Given the description of an element on the screen output the (x, y) to click on. 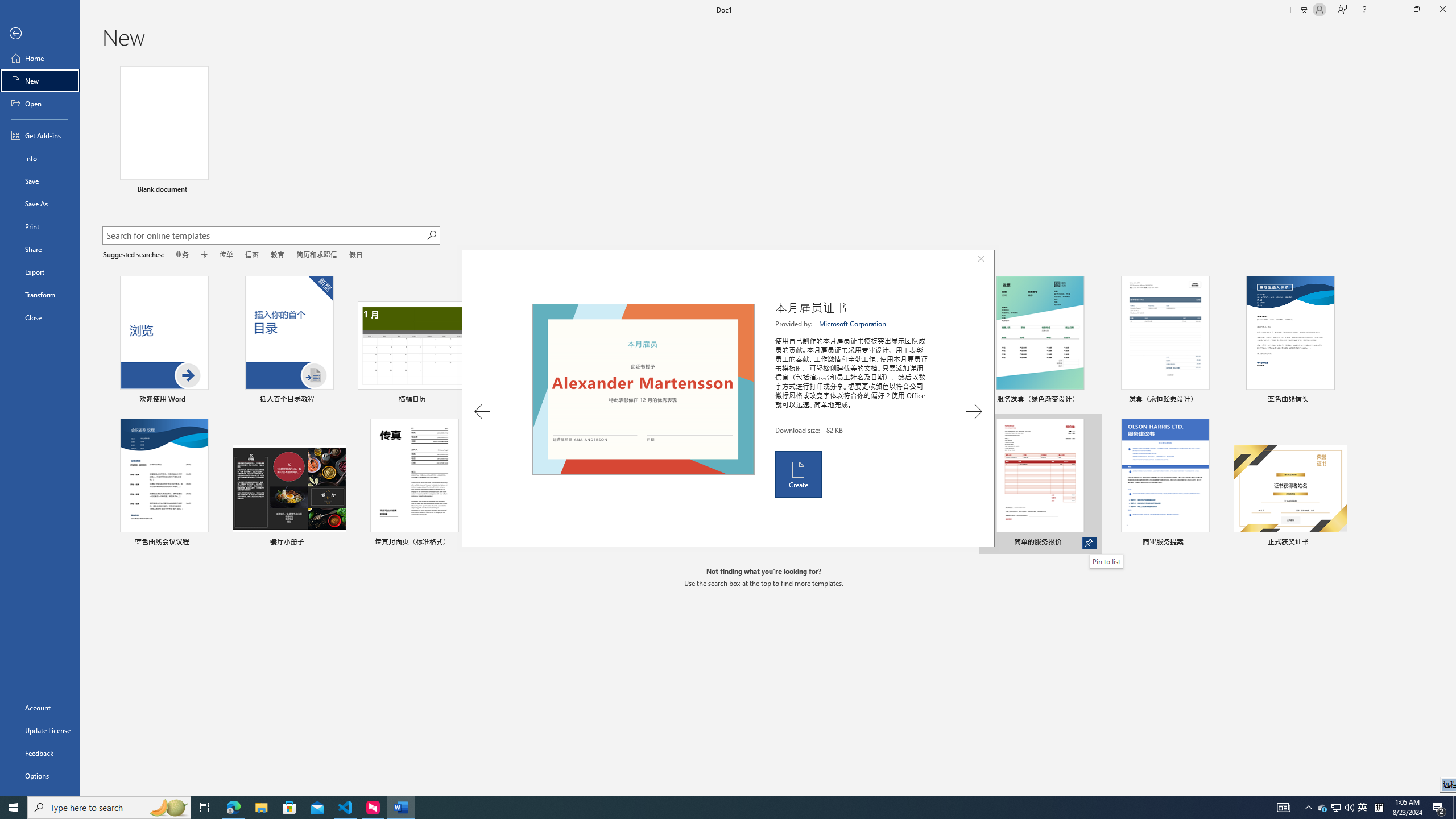
Search for online templates (264, 237)
Feedback (40, 753)
Print (40, 225)
Microsoft Corporation (853, 323)
Create (797, 474)
